Given the description of an element on the screen output the (x, y) to click on. 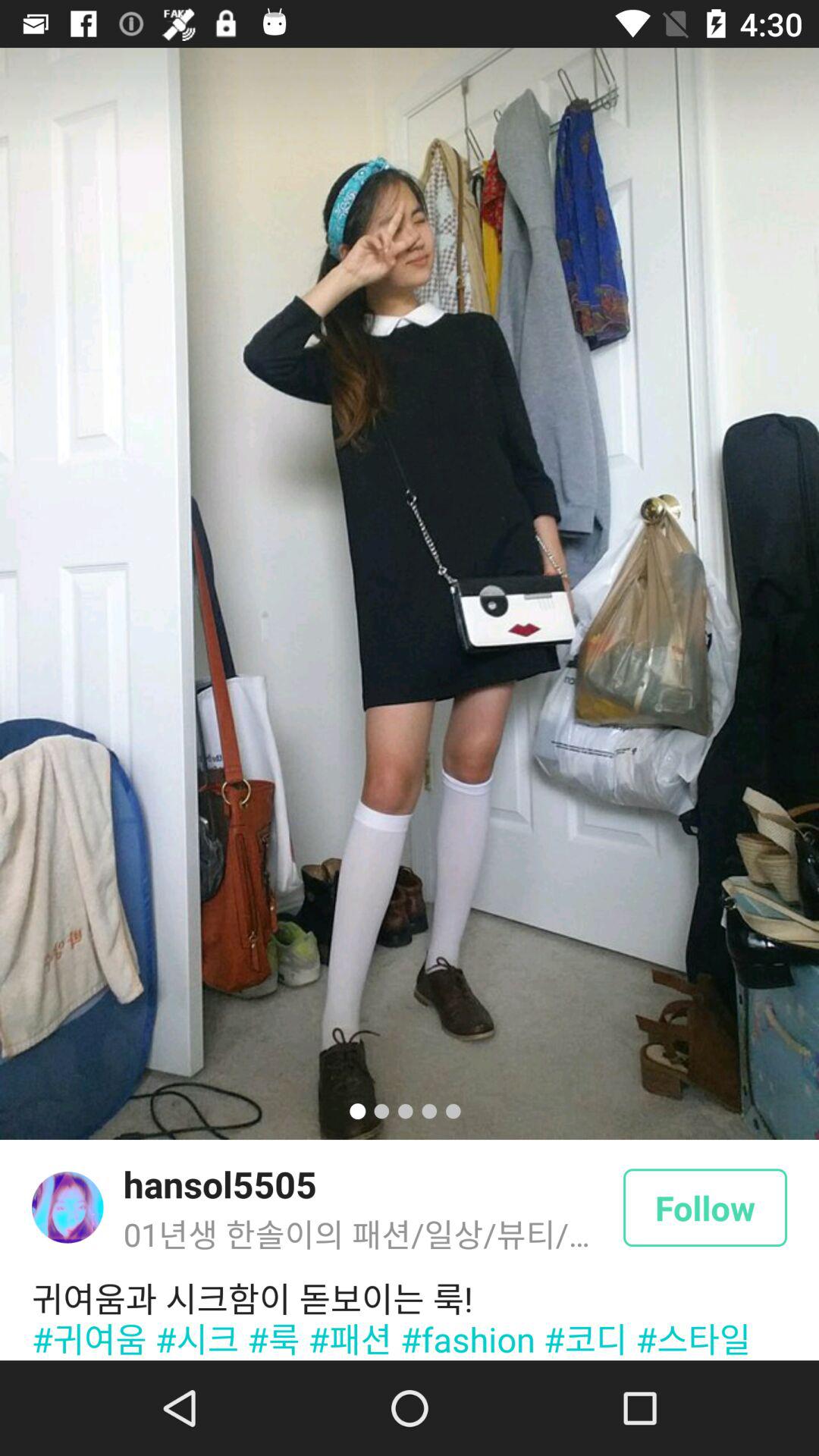
launch item to the left of follow (219, 1183)
